Given the description of an element on the screen output the (x, y) to click on. 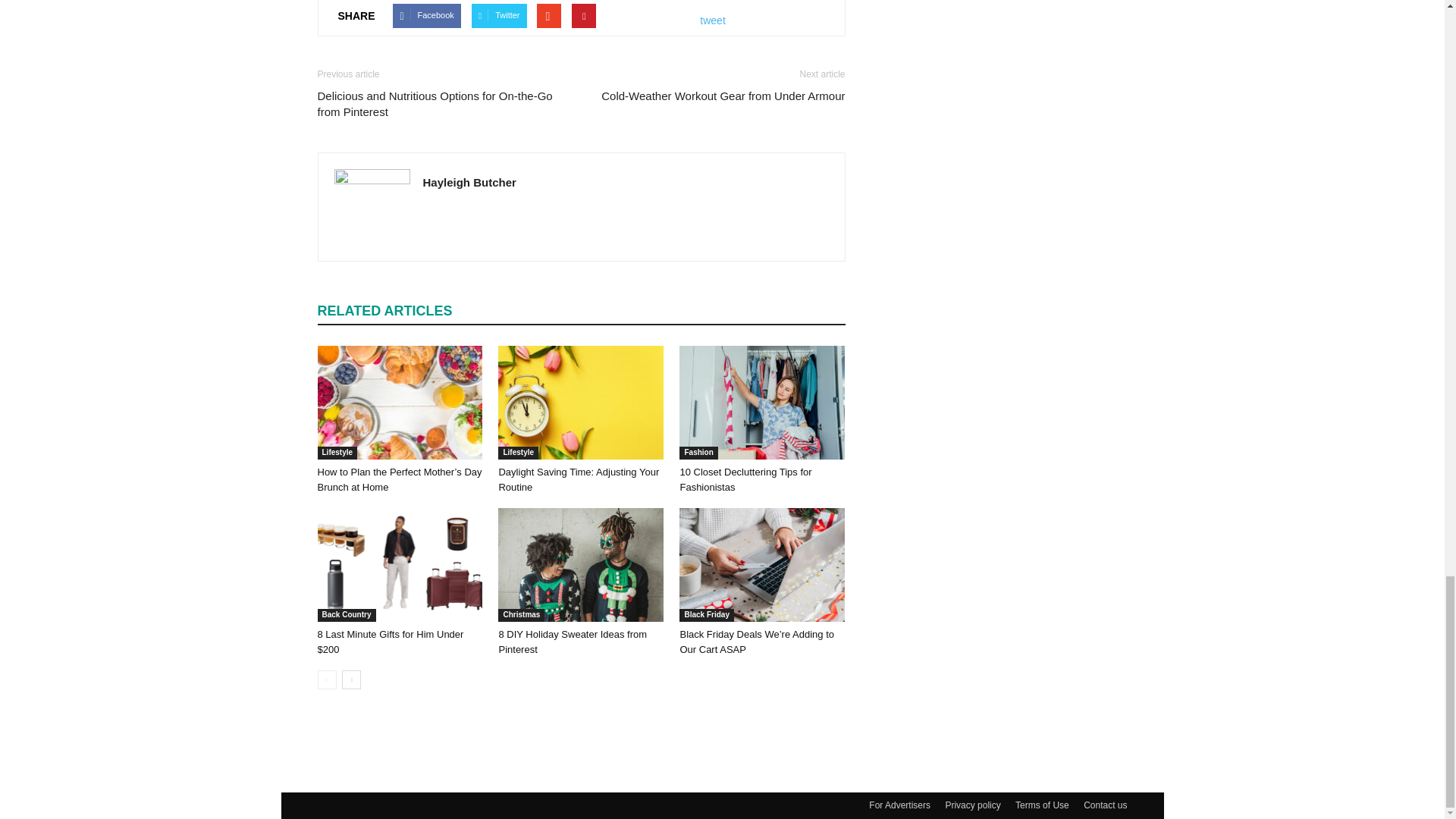
10 Closet Decluttering Tips for Fashionistas (744, 479)
10 Closet Decluttering Tips for Fashionistas (761, 402)
Daylight Saving Time: Adjusting Your Routine (580, 402)
Daylight Saving Time: Adjusting Your Routine (578, 479)
